Given the description of an element on the screen output the (x, y) to click on. 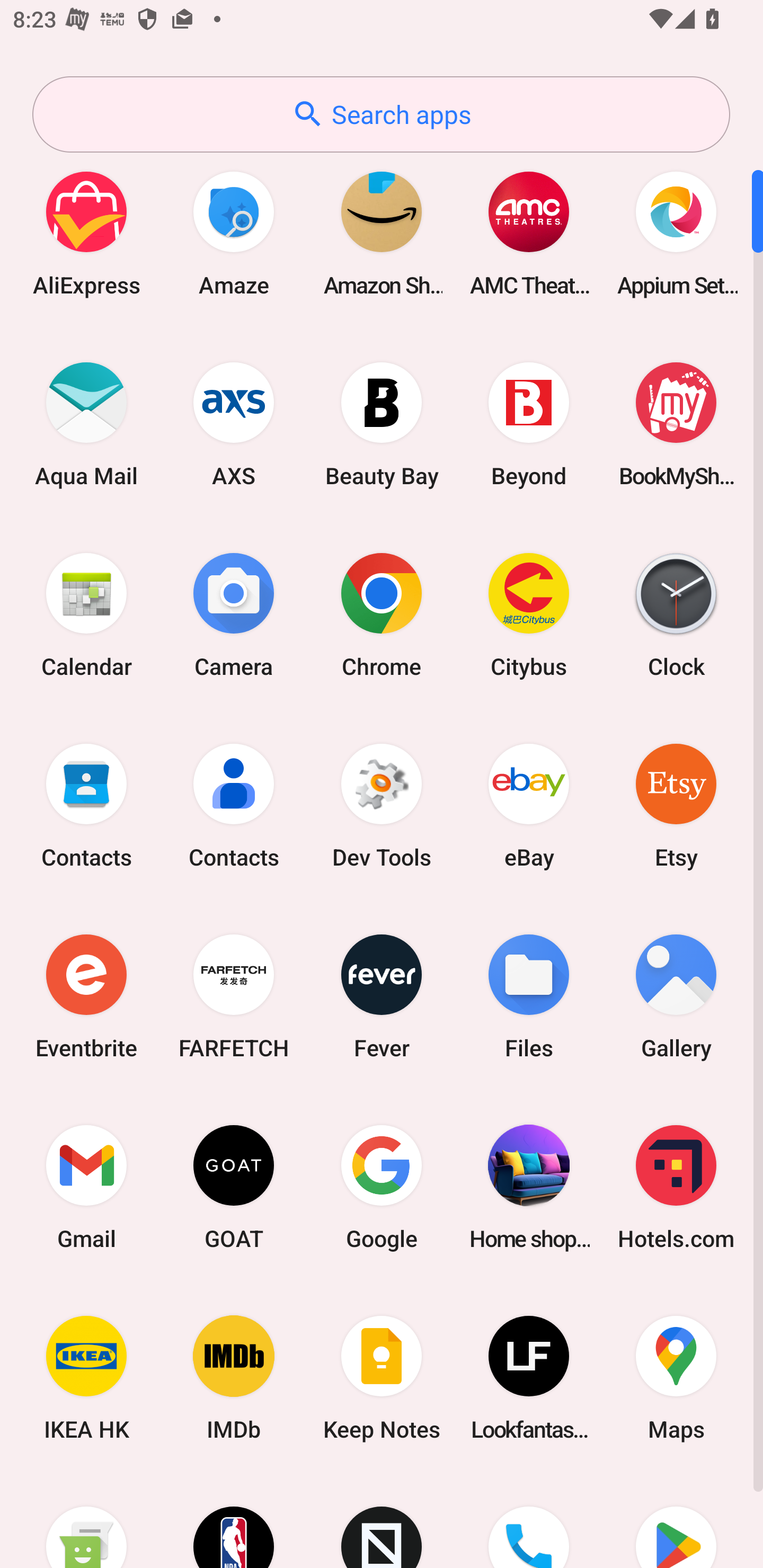
  Search apps (381, 114)
AliExpress (86, 233)
Amaze (233, 233)
Amazon Shopping (381, 233)
AMC Theatres (528, 233)
Appium Settings (676, 233)
Aqua Mail (86, 424)
AXS (233, 424)
Beauty Bay (381, 424)
Beyond (528, 424)
BookMyShow (676, 424)
Calendar (86, 614)
Camera (233, 614)
Chrome (381, 614)
Citybus (528, 614)
Clock (676, 614)
Contacts (86, 805)
Contacts (233, 805)
Dev Tools (381, 805)
eBay (528, 805)
Etsy (676, 805)
Eventbrite (86, 996)
FARFETCH (233, 996)
Fever (381, 996)
Files (528, 996)
Gallery (676, 996)
Gmail (86, 1186)
GOAT (233, 1186)
Google (381, 1186)
Home shopping (528, 1186)
Hotels.com (676, 1186)
IKEA HK (86, 1377)
IMDb (233, 1377)
Keep Notes (381, 1377)
Lookfantastic (528, 1377)
Maps (676, 1377)
Messaging (86, 1520)
NBA (233, 1520)
Novelship (381, 1520)
Phone (528, 1520)
Play Store (676, 1520)
